Given the description of an element on the screen output the (x, y) to click on. 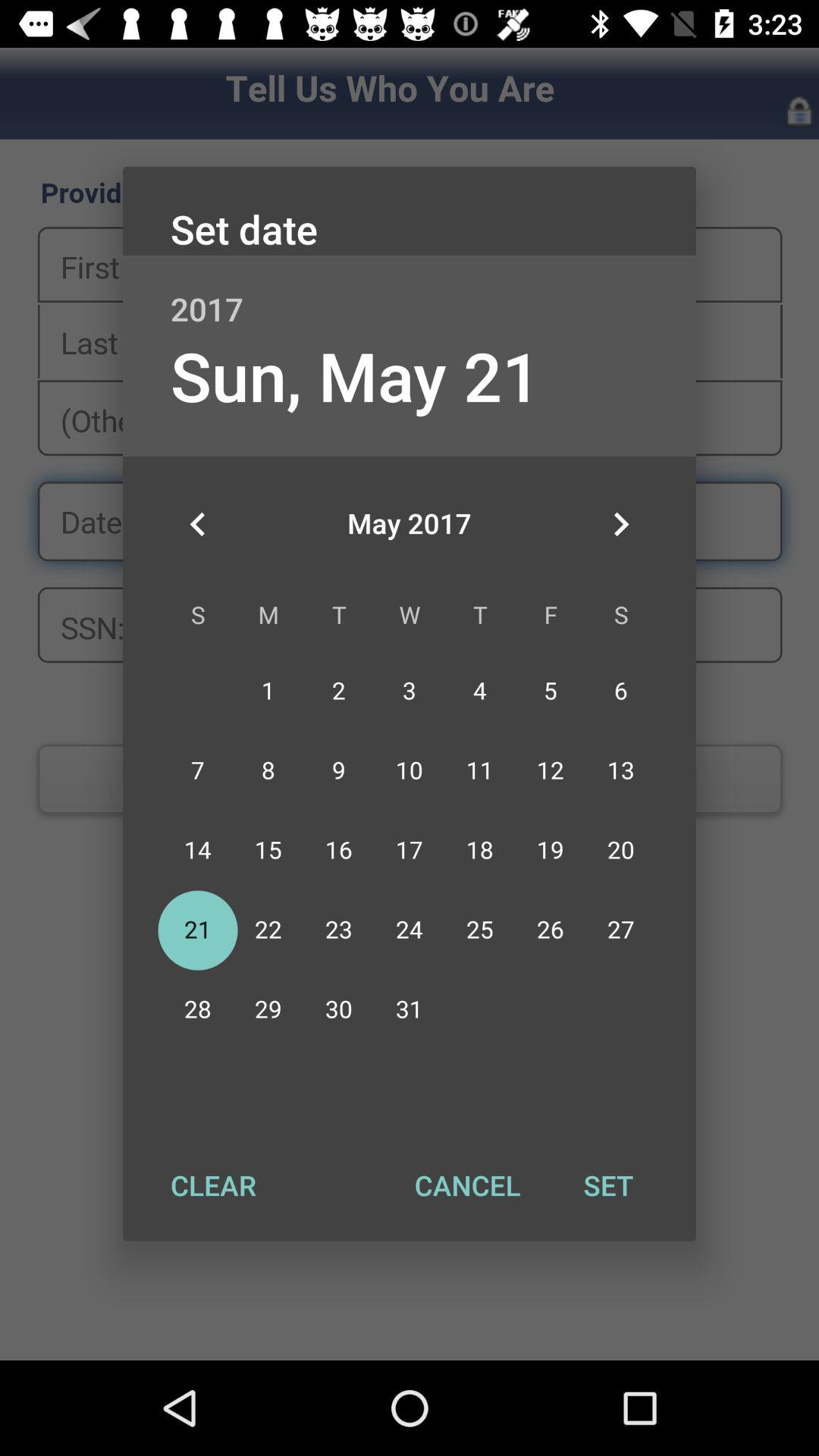
press the item above the set (620, 524)
